Given the description of an element on the screen output the (x, y) to click on. 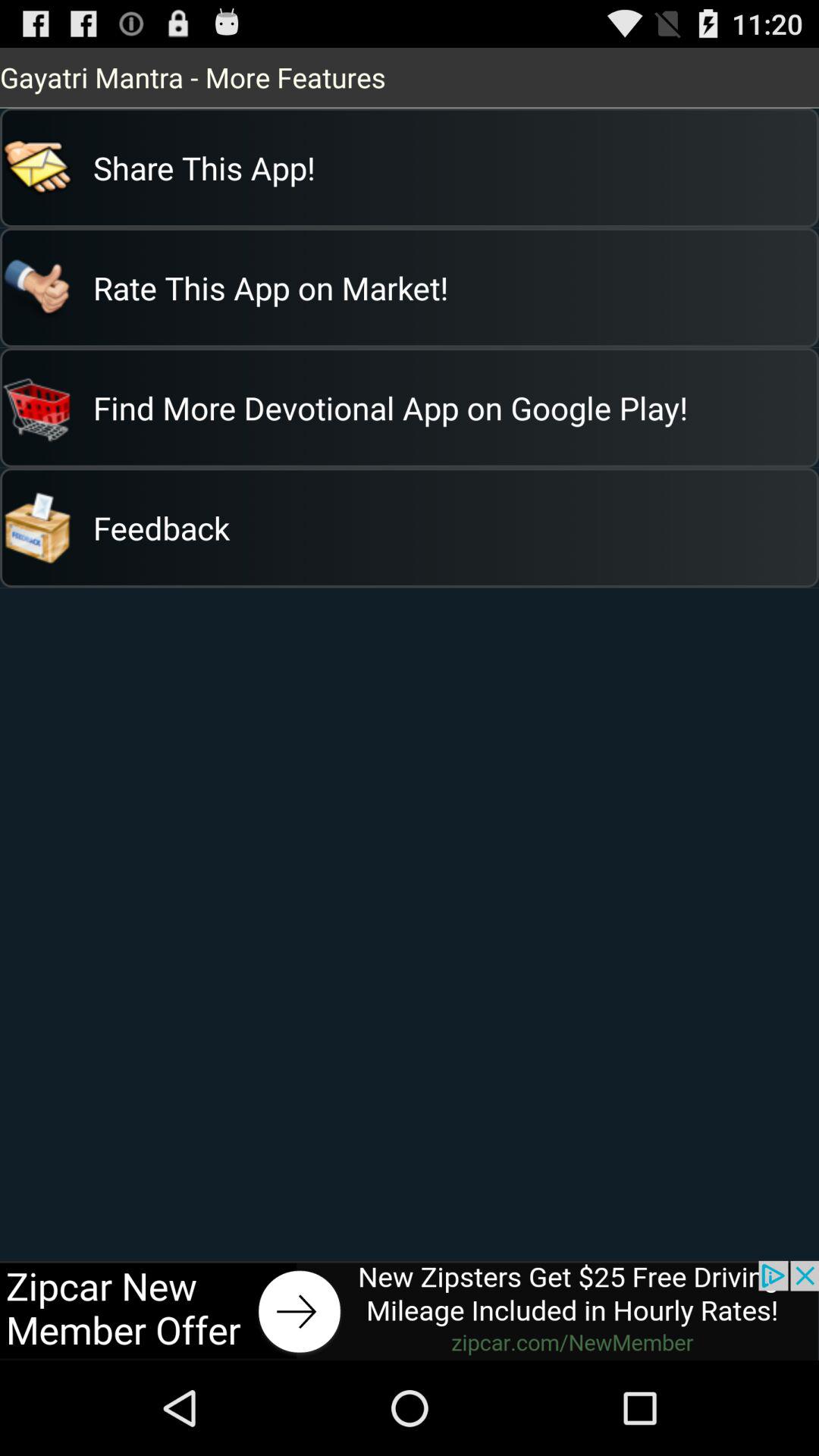
open advertisement (409, 1310)
